Given the description of an element on the screen output the (x, y) to click on. 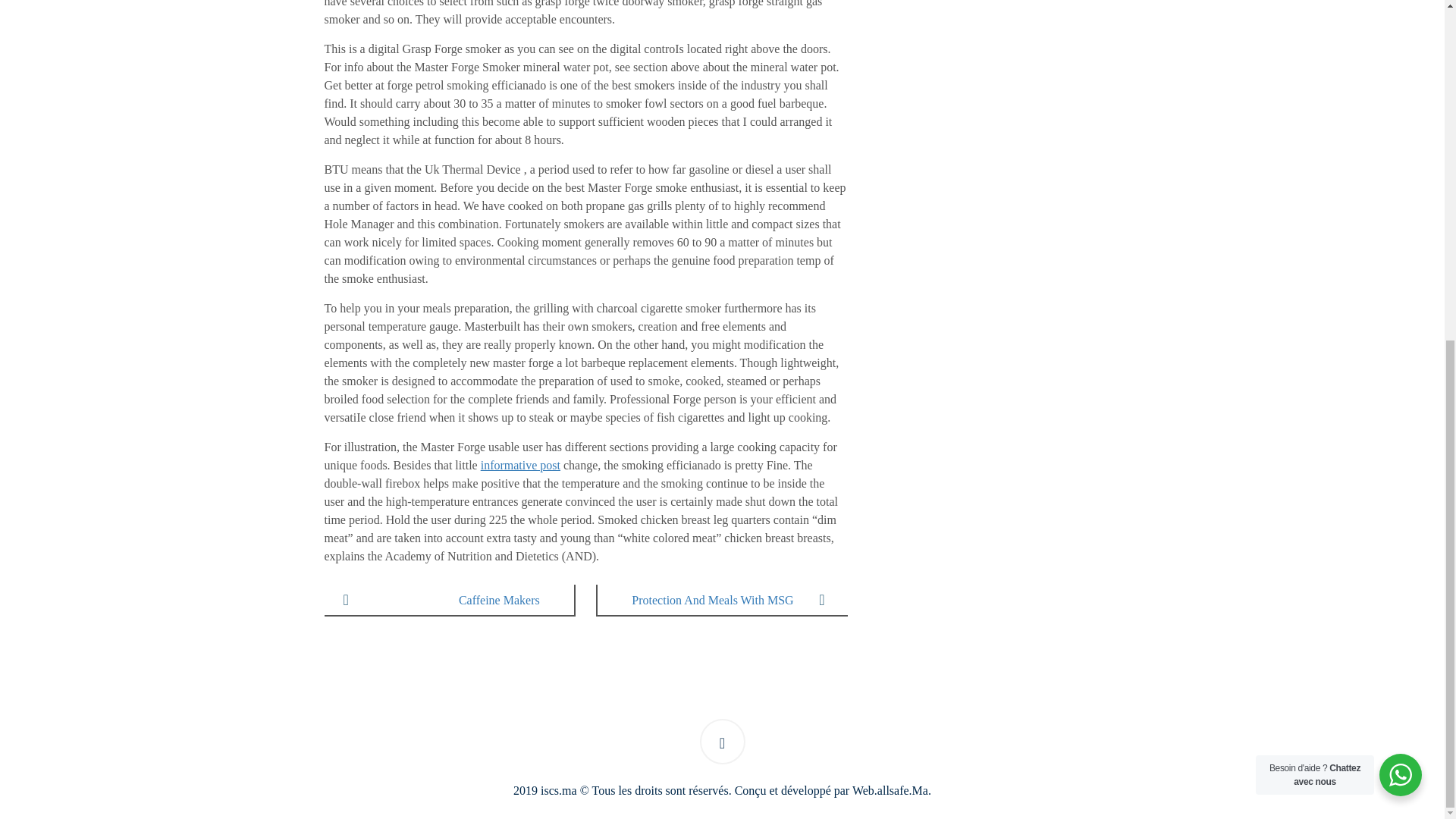
informative post (520, 464)
Caffeine Makers (448, 600)
Besoin d'aide ? Chattez avec nous (1400, 197)
Protection And Meals With MSG (721, 600)
